Given the description of an element on the screen output the (x, y) to click on. 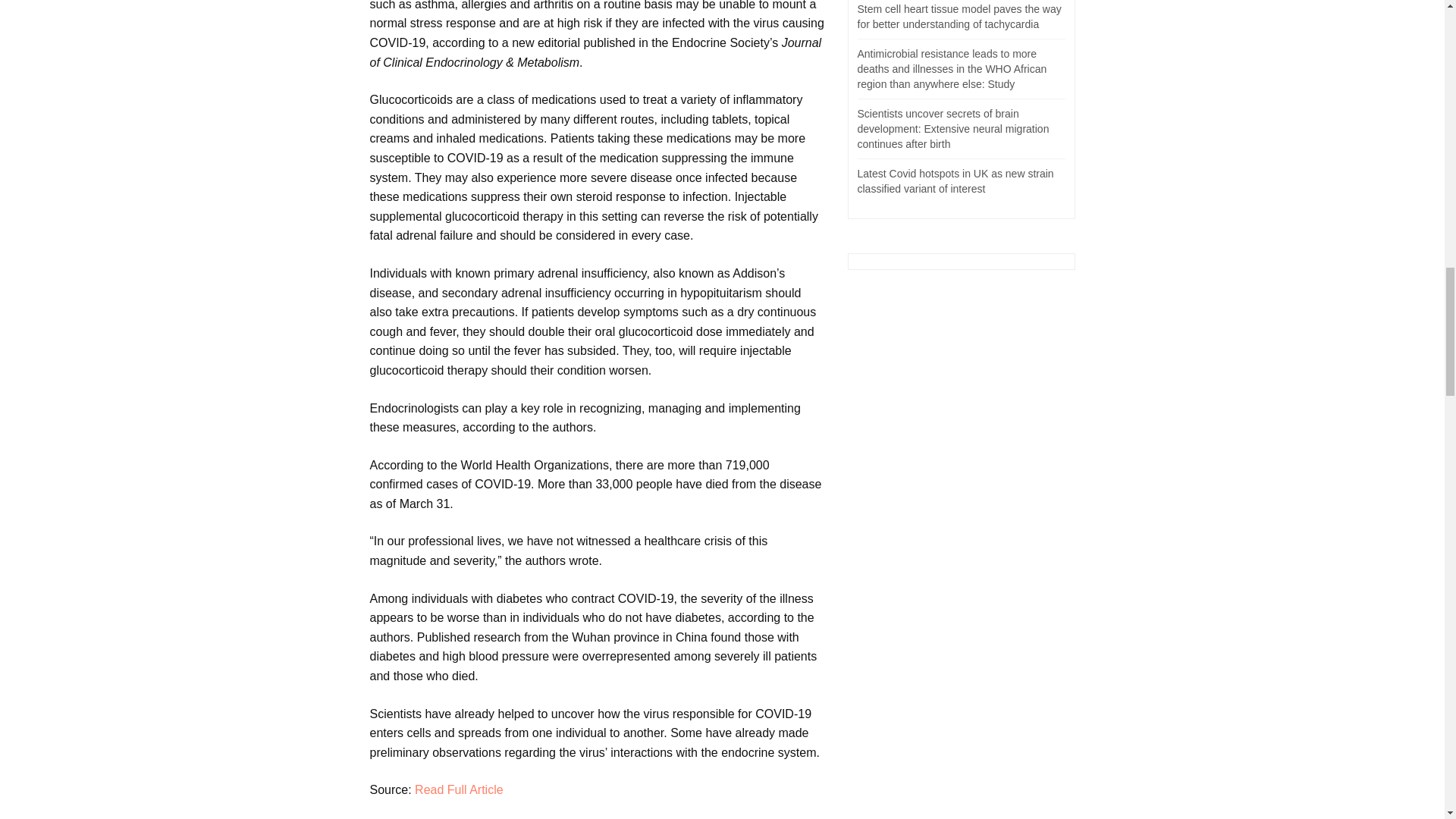
Read Full Article (458, 789)
